Given the description of an element on the screen output the (x, y) to click on. 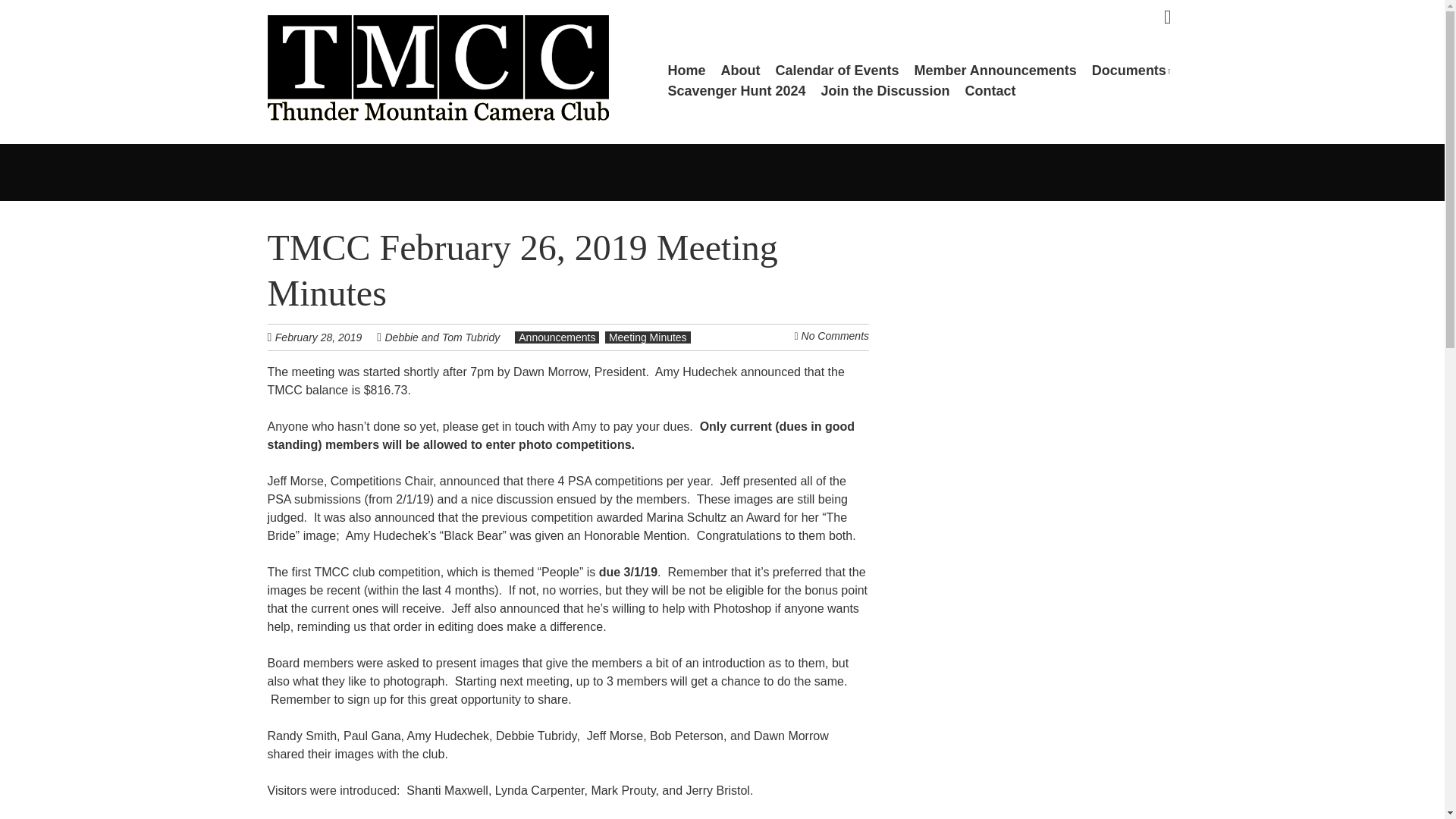
Friend me on Facebook (1167, 16)
View all posts by Debbie and Tom Tubridy (442, 337)
Member Announcements (994, 70)
About (740, 70)
February 28, 2019 (326, 336)
Join the Discussion (885, 91)
Documents (1131, 70)
Contact (990, 91)
About The Club (740, 70)
Meeting Minutes (647, 337)
